Given the description of an element on the screen output the (x, y) to click on. 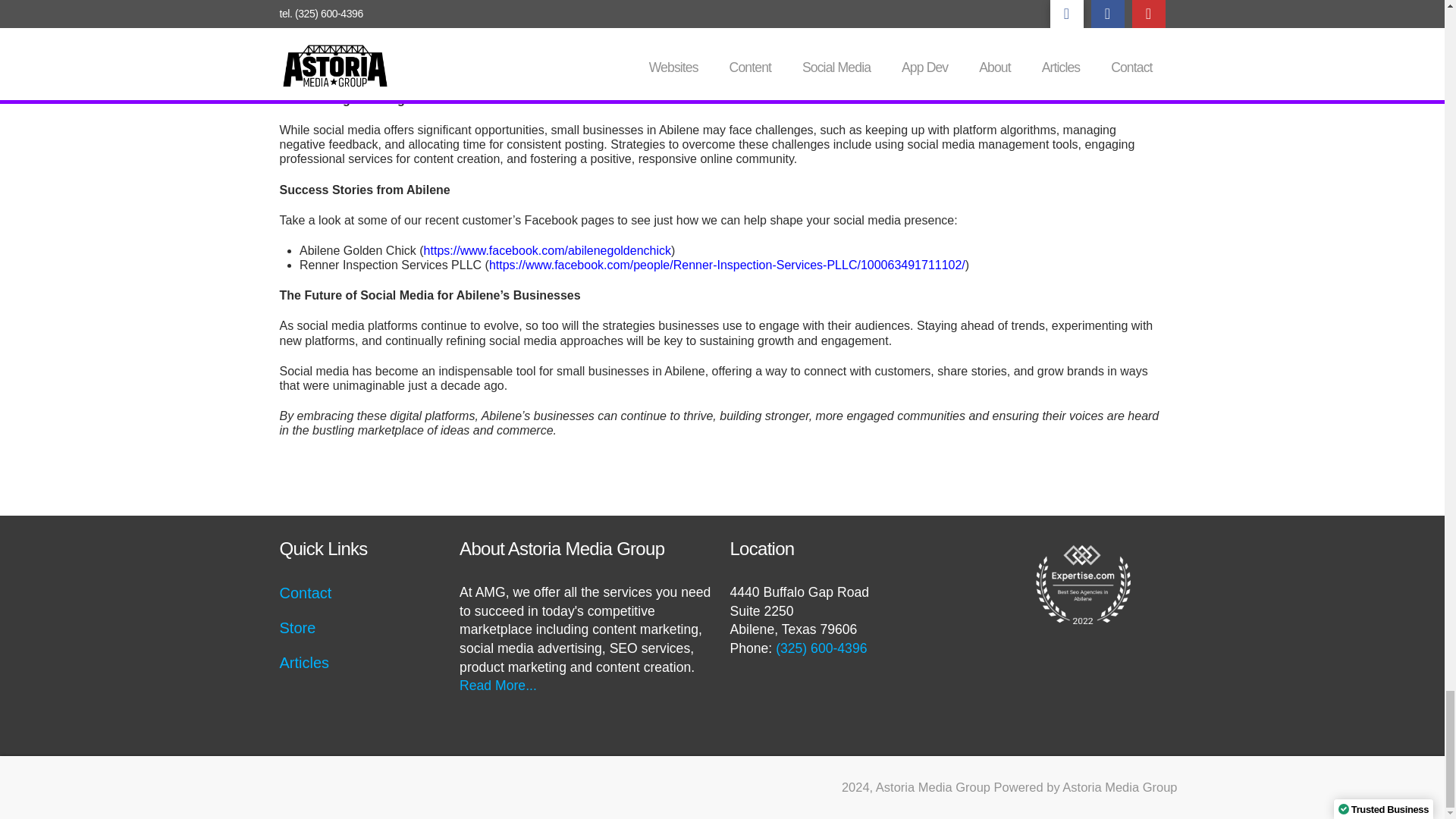
Contact (305, 592)
Store (297, 627)
Read More... (498, 685)
Articles (304, 662)
2024, Astoria Media Group Powered by Astoria Media Group (1009, 787)
